Given the description of an element on the screen output the (x, y) to click on. 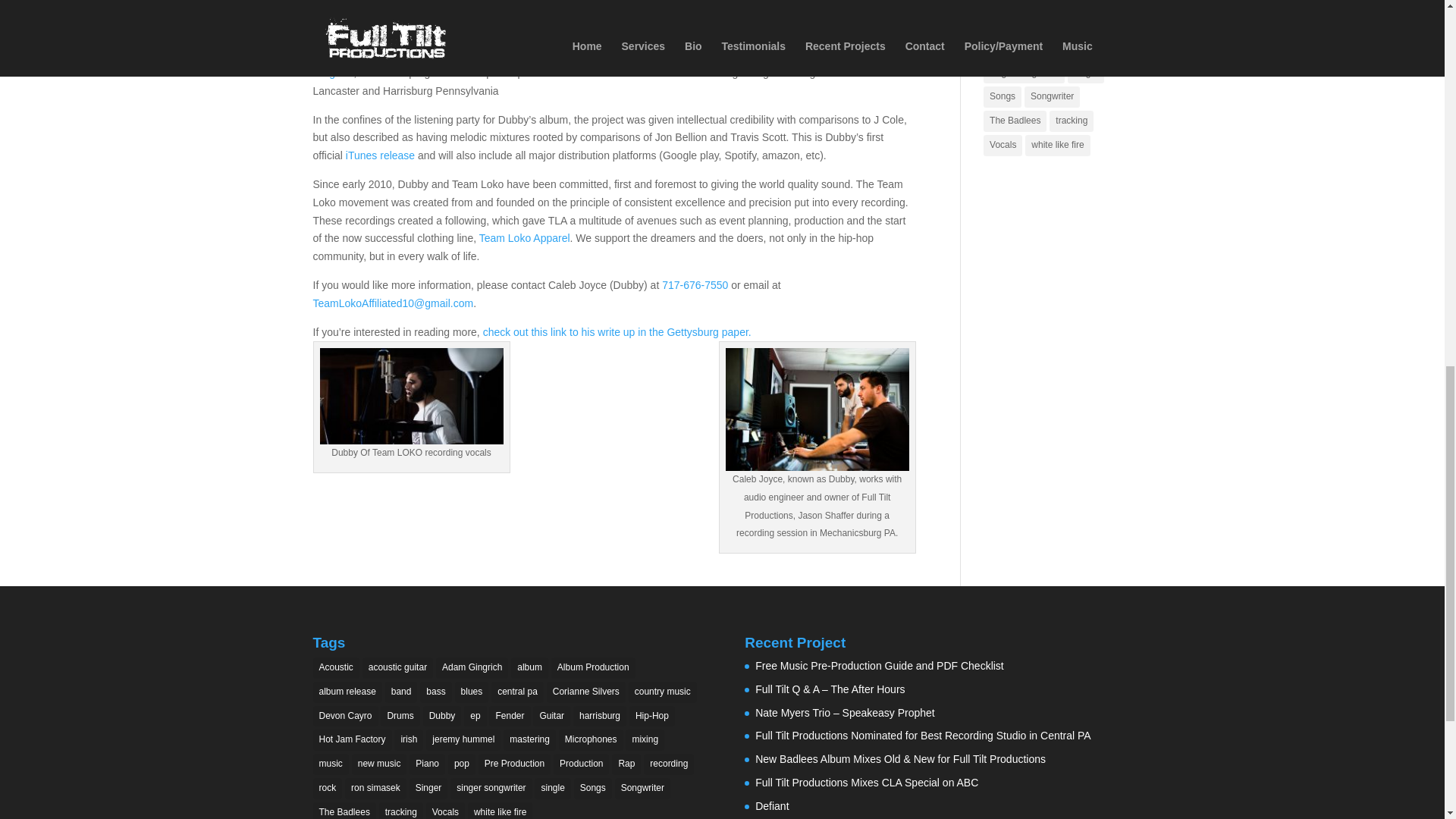
Benchmark Program (592, 63)
717-676-7550 (695, 285)
iTunes release (380, 155)
Team Loko Apparel (524, 237)
check out this link to his write up in the Gettysburg paper. (617, 331)
